Given the description of an element on the screen output the (x, y) to click on. 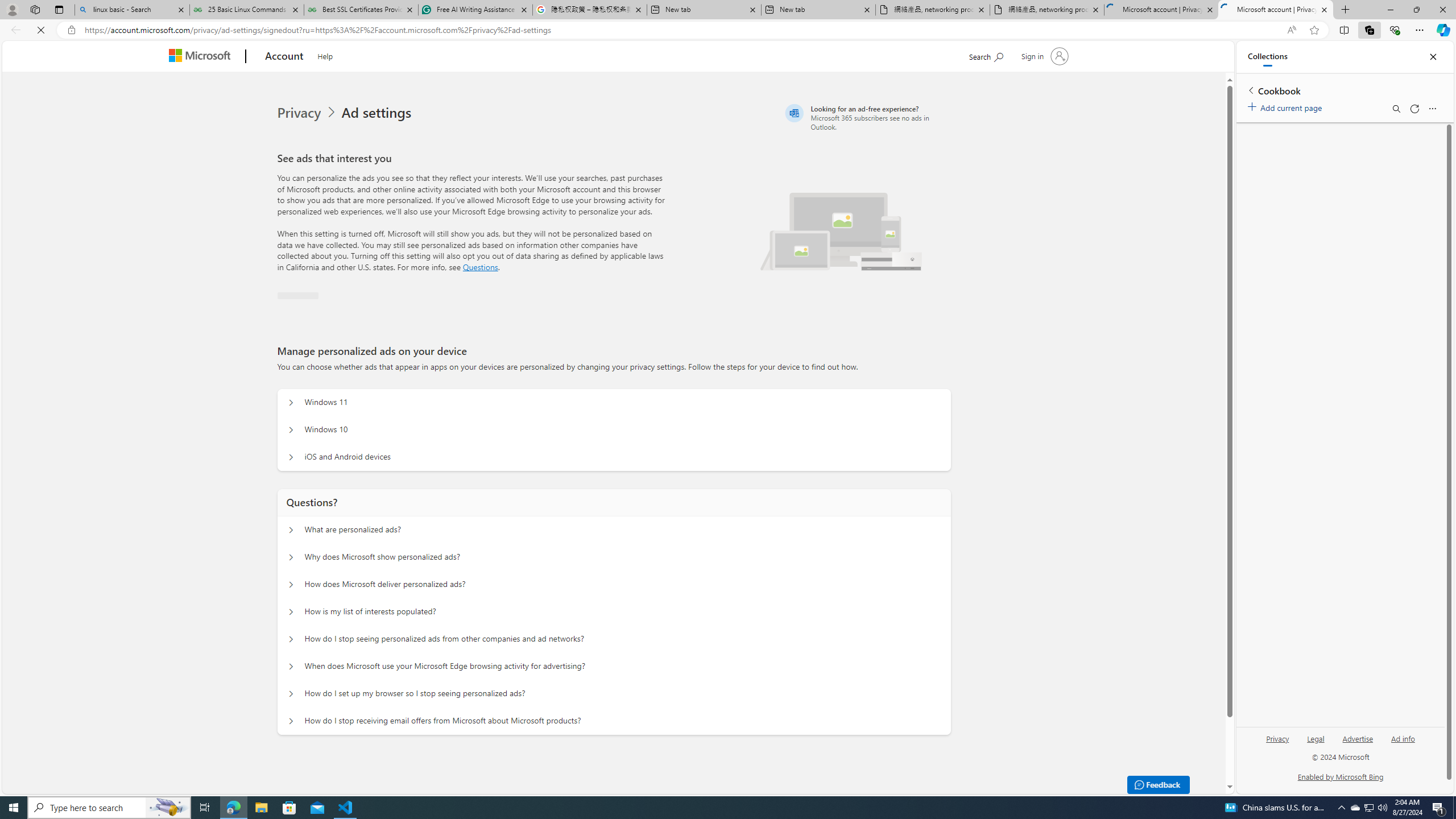
Terms of use (891, 775)
More options menu (1432, 108)
Free AI Writing Assistance for Students | Grammarly (475, 9)
